Given the description of an element on the screen output the (x, y) to click on. 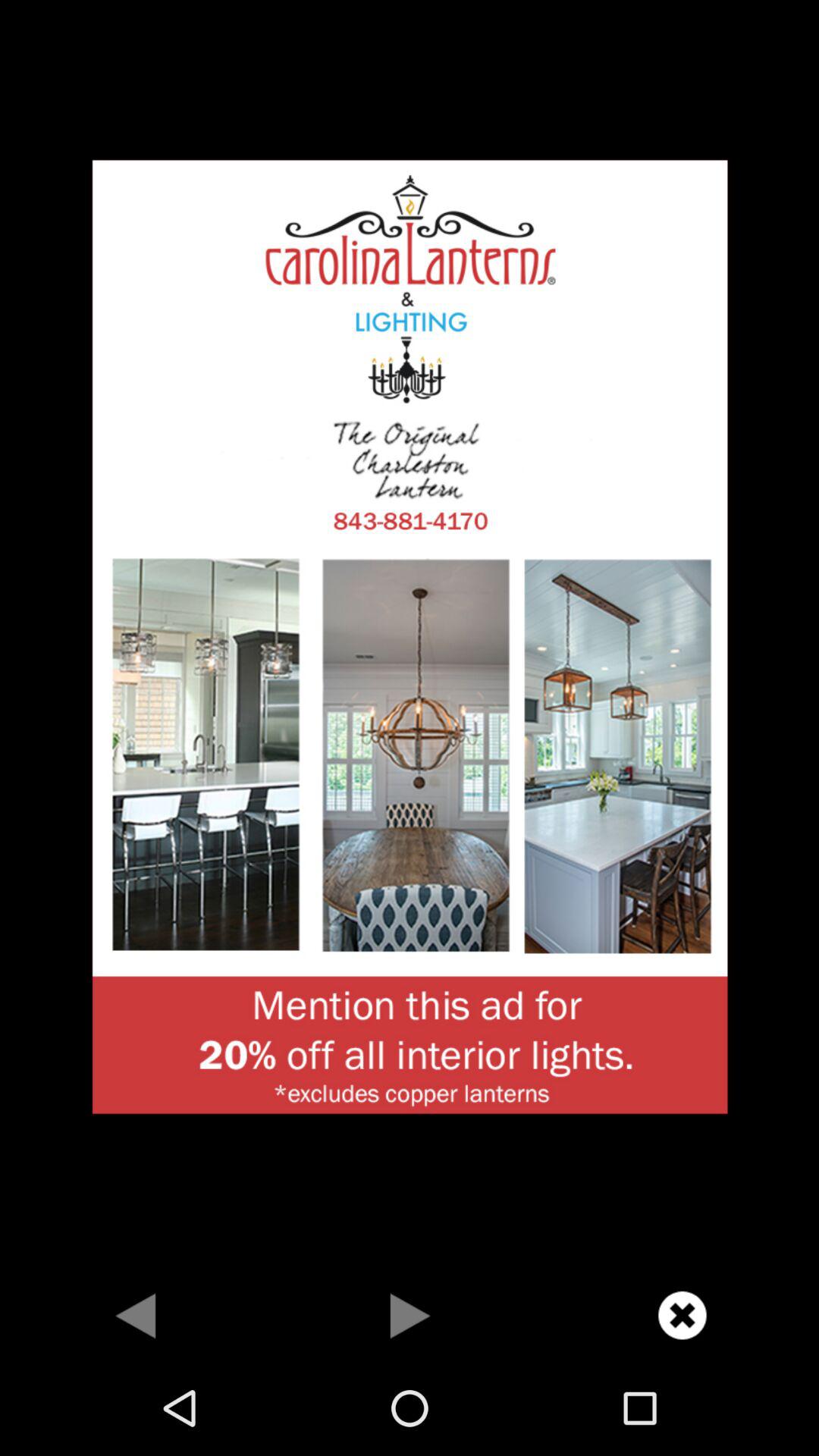
close advertisement (682, 1315)
